Given the description of an element on the screen output the (x, y) to click on. 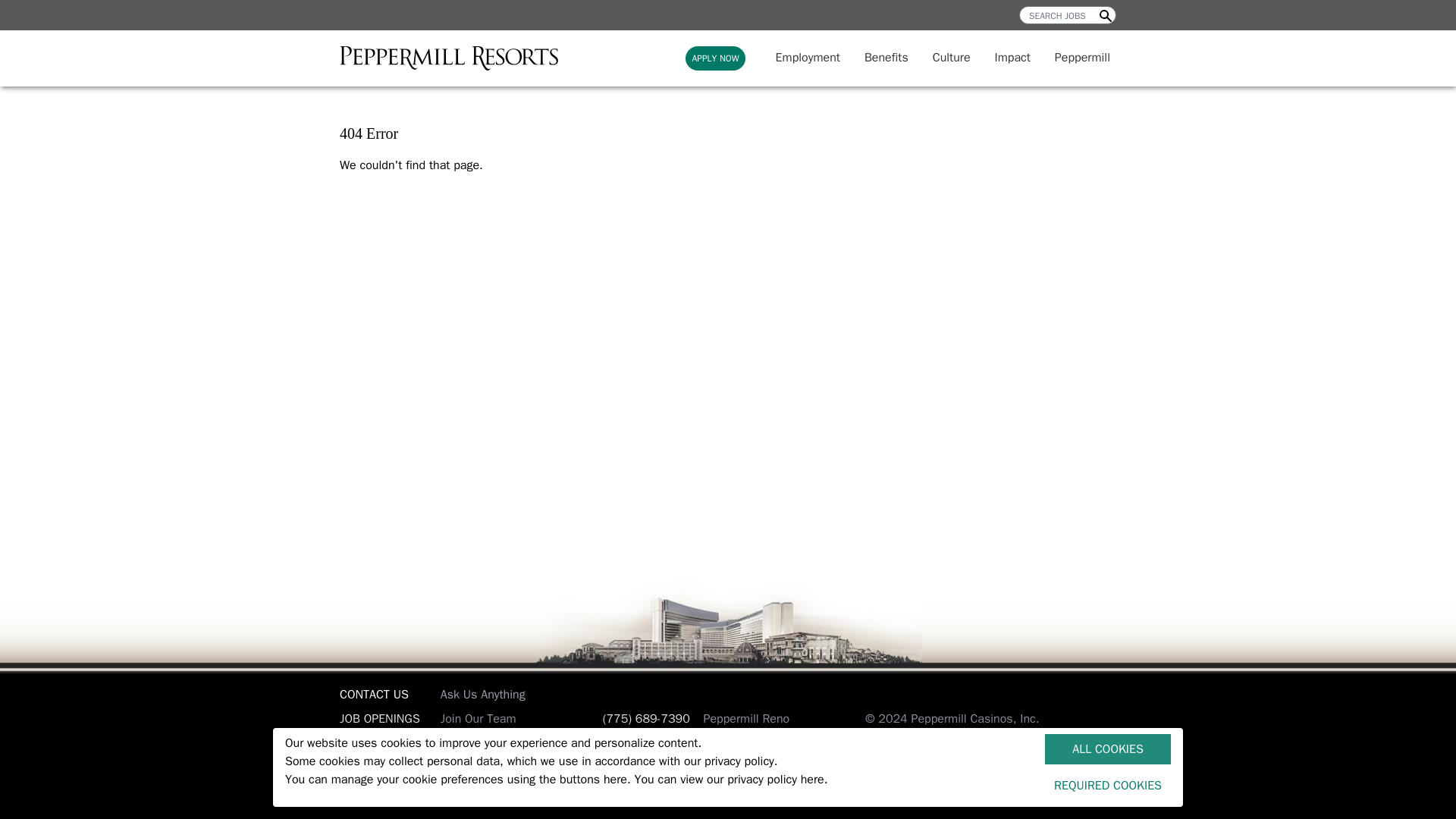
Impact (1012, 57)
Tingnan sa Tagalog (733, 797)
Peppermill (1082, 57)
JOB OPENINGS Join Our Team (465, 719)
Benefits (886, 57)
view our privacy policy here. (753, 779)
Employment (807, 57)
APPLY NOW (714, 57)
ALL COOKIES (1107, 748)
Tagalog (733, 797)
